Given the description of an element on the screen output the (x, y) to click on. 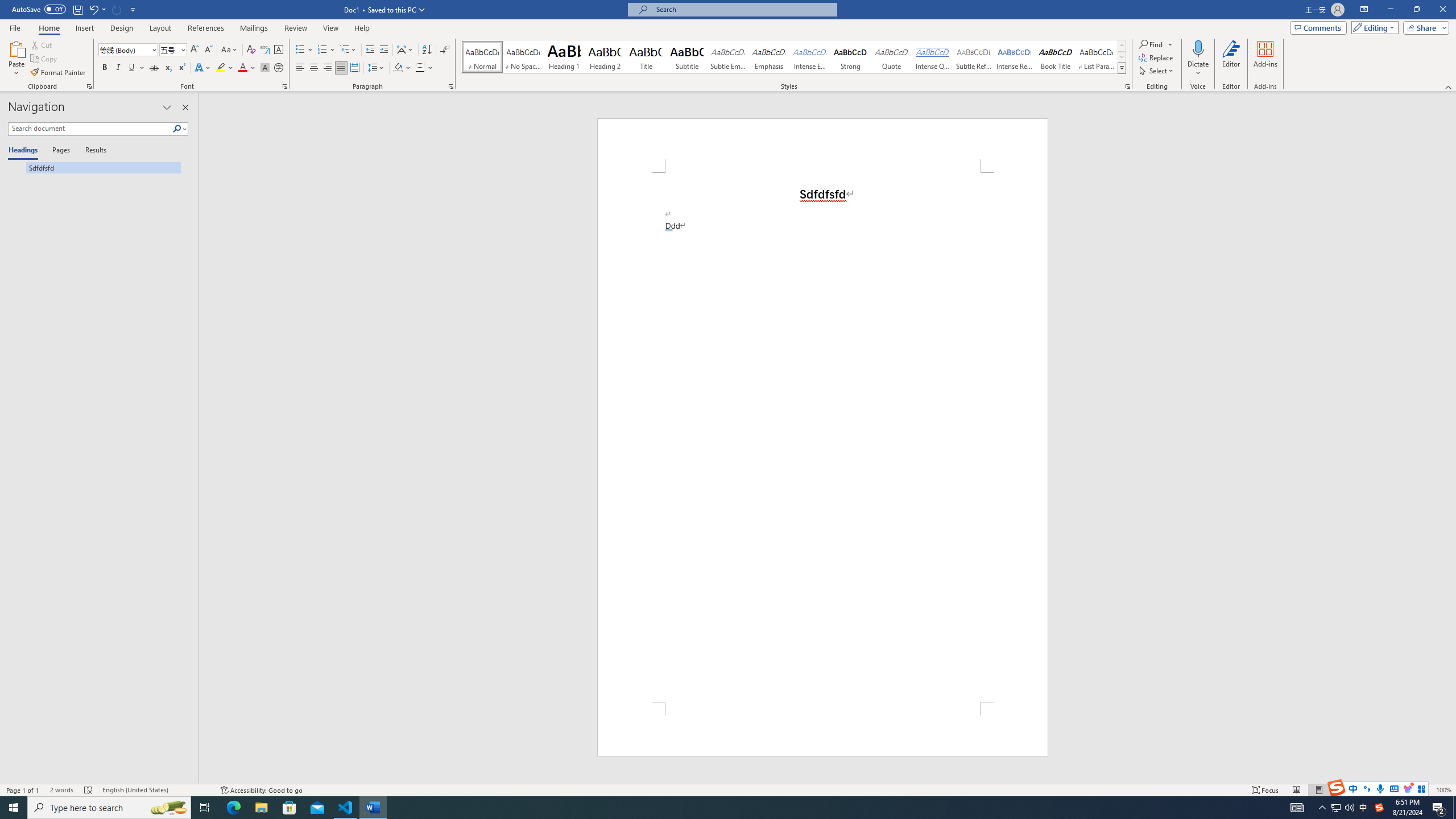
Ribbon Display Options (1364, 9)
Subtle Emphasis (727, 56)
Search (179, 128)
Dictate (1197, 58)
Font (124, 49)
Title (646, 56)
Borders (419, 67)
Paste (16, 48)
More Options (1197, 68)
Language English (United States) (155, 790)
Zoom (1392, 790)
Align Left (300, 67)
View (330, 28)
AutomationID: QuickStylesGallery (794, 56)
Change Case (229, 49)
